Given the description of an element on the screen output the (x, y) to click on. 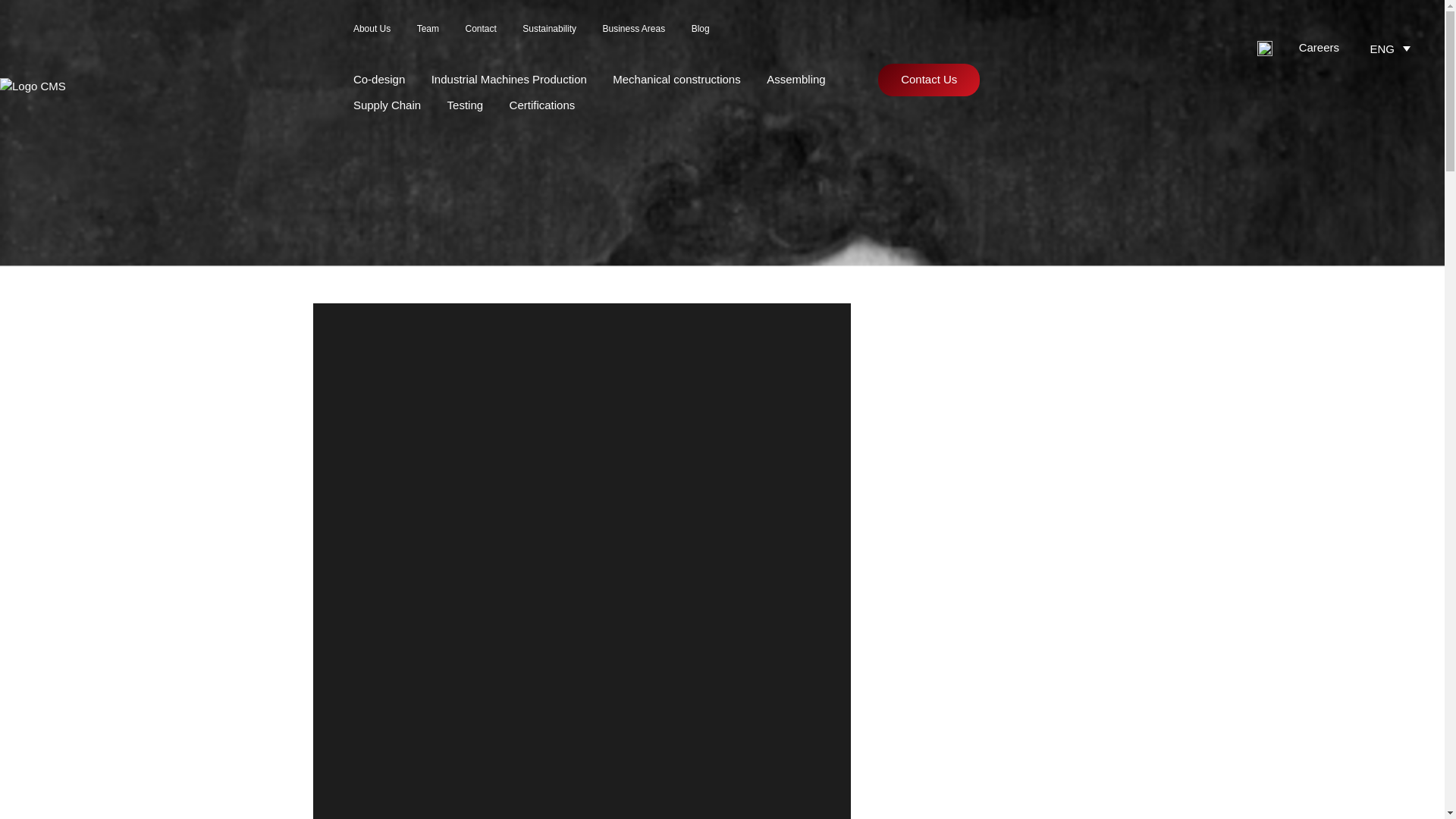
Testing (464, 104)
Business Areas (633, 28)
Contact (480, 28)
Sustainability (549, 28)
About Us (371, 28)
Supply Chain (386, 104)
Assembling (796, 78)
Contact Us (928, 79)
ENG (1391, 47)
Team (427, 28)
Co-design (378, 78)
Careers (1318, 47)
Blog (700, 28)
Industrial Machines Production (508, 78)
Certifications (542, 104)
